Given the description of an element on the screen output the (x, y) to click on. 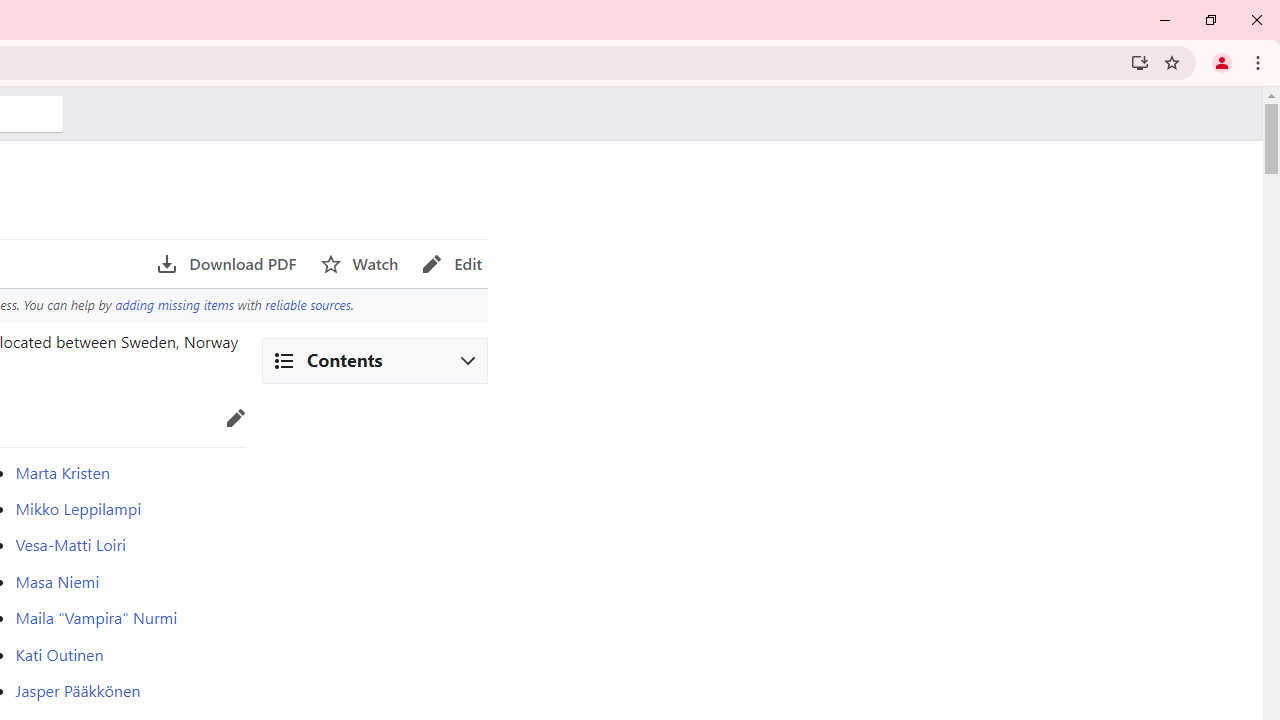
AutomationID: page-actions-watch (359, 263)
Maila "Vampira" Nurmi (96, 617)
Watch (359, 264)
reliable sources (307, 304)
Mikko Leppilampi (78, 508)
Masa Niemi (57, 580)
Marta Kristen (62, 471)
Install Wikipedia (1139, 62)
